Given the description of an element on the screen output the (x, y) to click on. 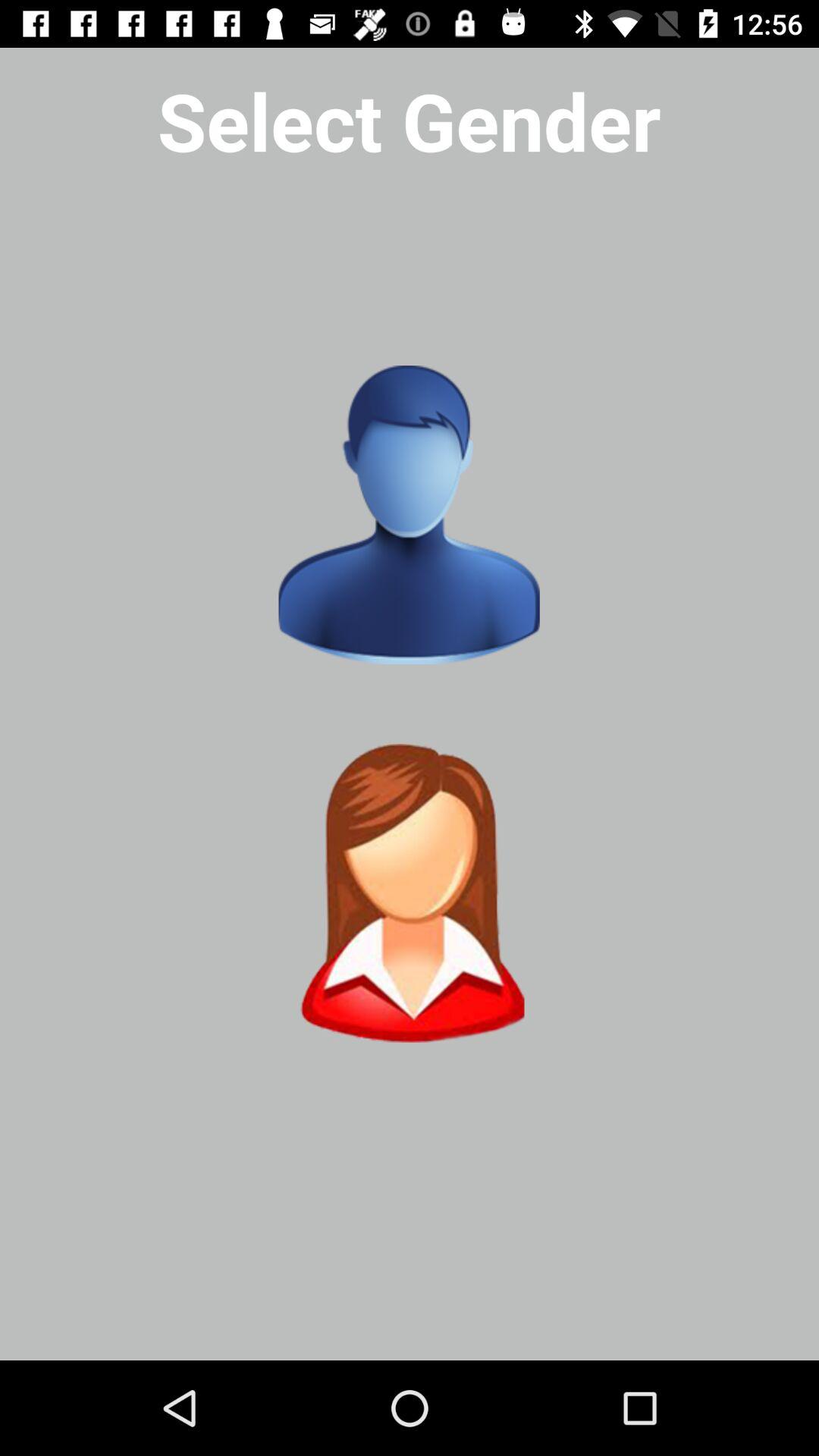
launch app below the select gender app (408, 514)
